Given the description of an element on the screen output the (x, y) to click on. 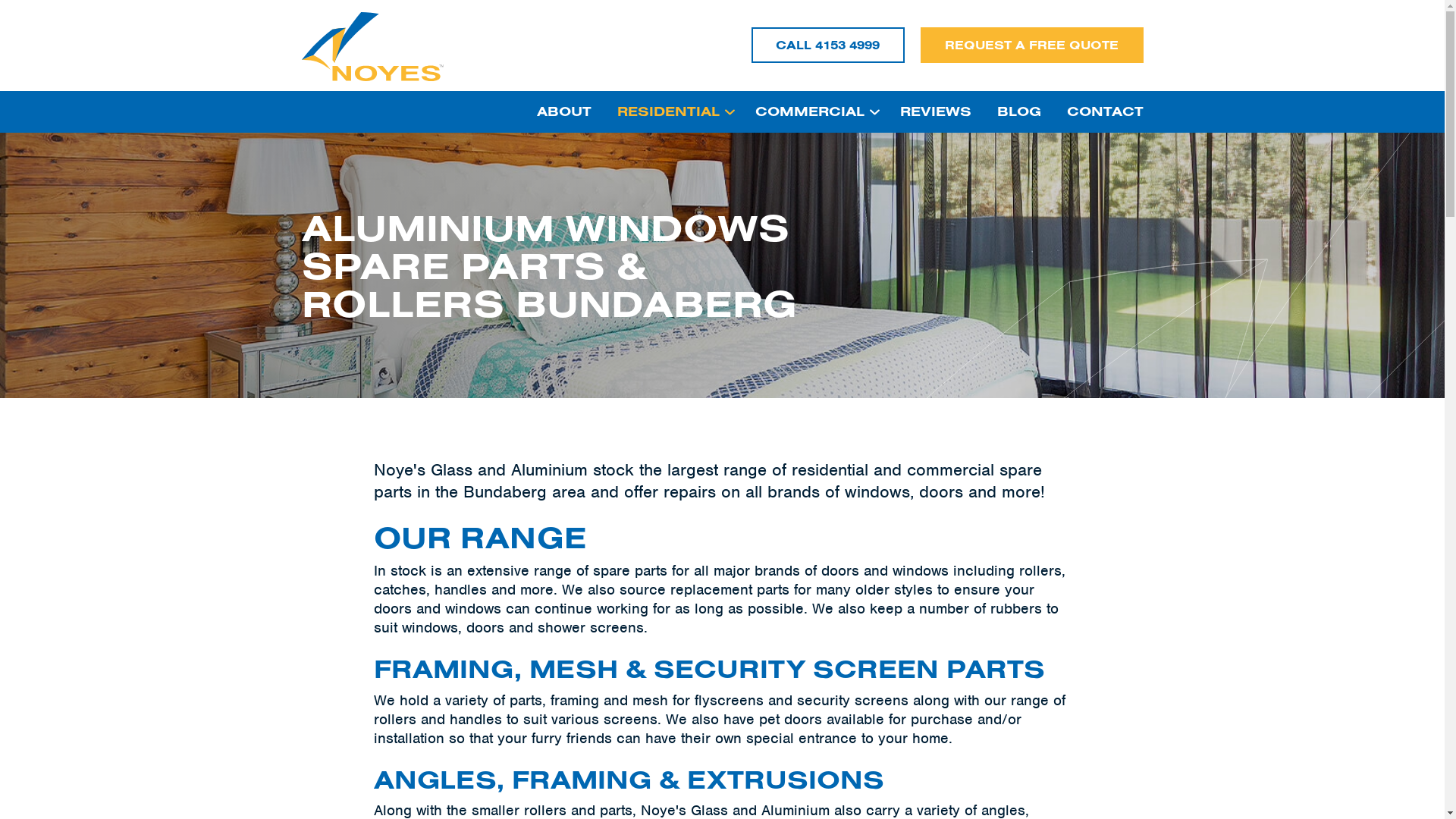
Noye's Glass & Aluminium Element type: hover (372, 46)
REQUEST A FREE QUOTE Element type: text (1031, 44)
ABOUT Element type: text (570, 111)
CALL 4153 4999 Element type: text (827, 44)
COMMERCIAL Element type: text (813, 111)
REVIEWS Element type: text (935, 111)
RESIDENTIAL Element type: text (672, 111)
CONTACT Element type: text (1098, 111)
BLOG Element type: text (1019, 111)
